Given the description of an element on the screen output the (x, y) to click on. 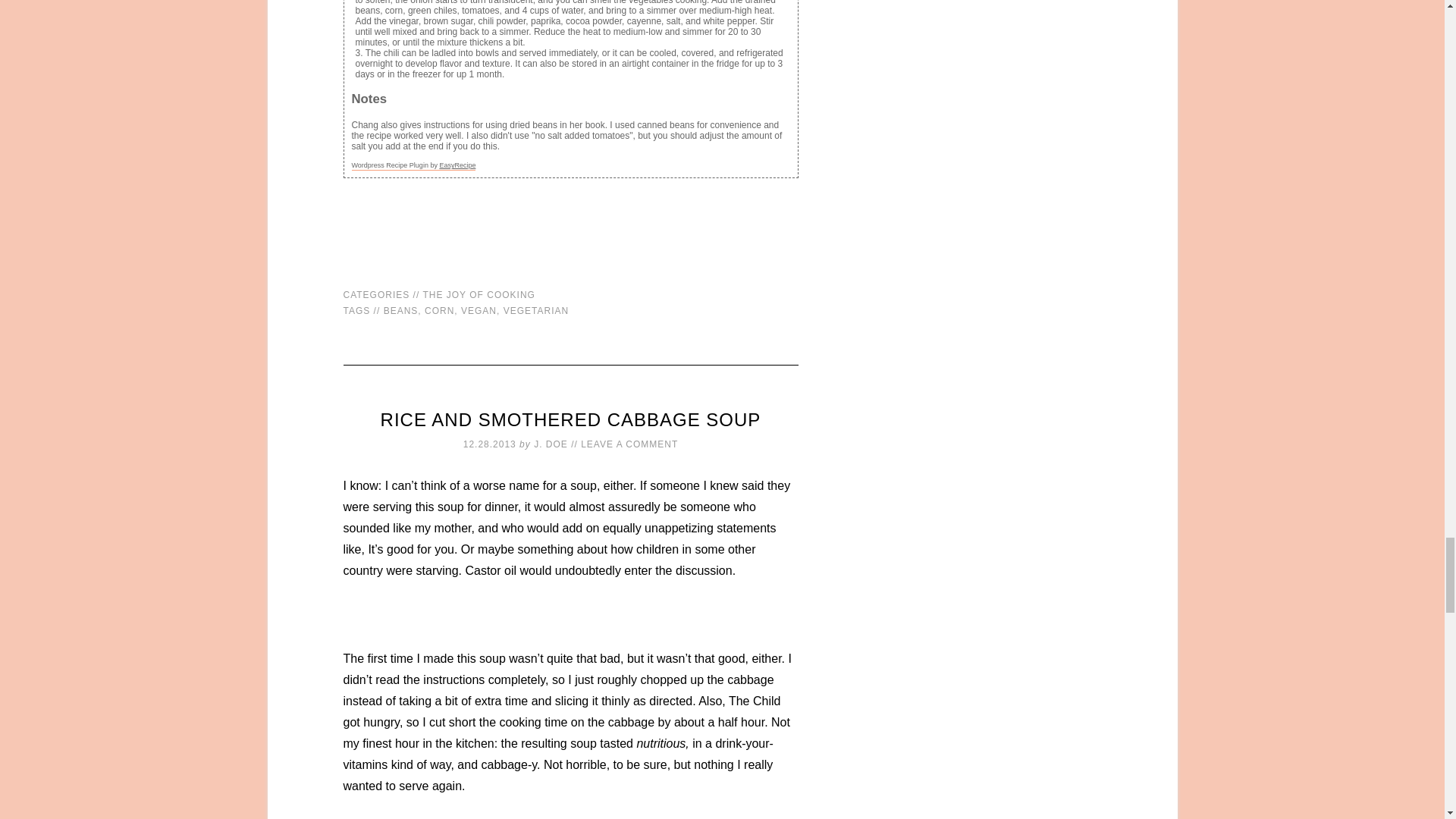
CORN (439, 310)
J. DOE (550, 443)
RICE AND SMOTHERED CABBAGE SOUP (570, 419)
EasyRecipe Wordpress Recipe Plugin (414, 165)
THE JOY OF COOKING (478, 294)
VEGAN (478, 310)
LEAVE A COMMENT (629, 443)
VEGETARIAN (536, 310)
Wordpress Recipe Plugin by EasyRecipe (414, 165)
BEANS (401, 310)
